Given the description of an element on the screen output the (x, y) to click on. 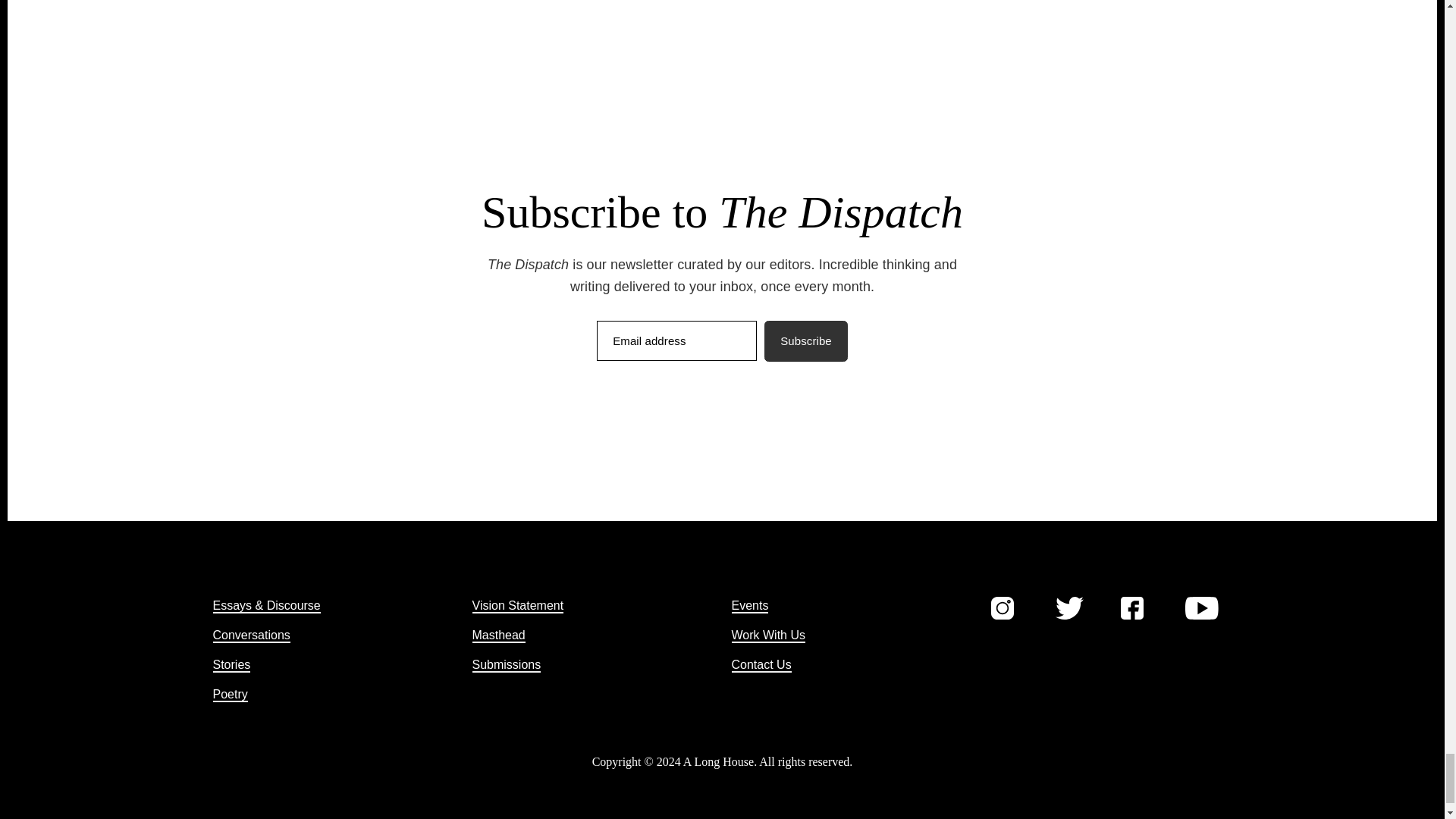
002-facebook Created with Sketch. (1131, 608)
003-instagram Created with Sketch. (1001, 608)
001-twitter Created with Sketch. (1069, 608)
004-youtube Created with Sketch. (1201, 608)
